Given the description of an element on the screen output the (x, y) to click on. 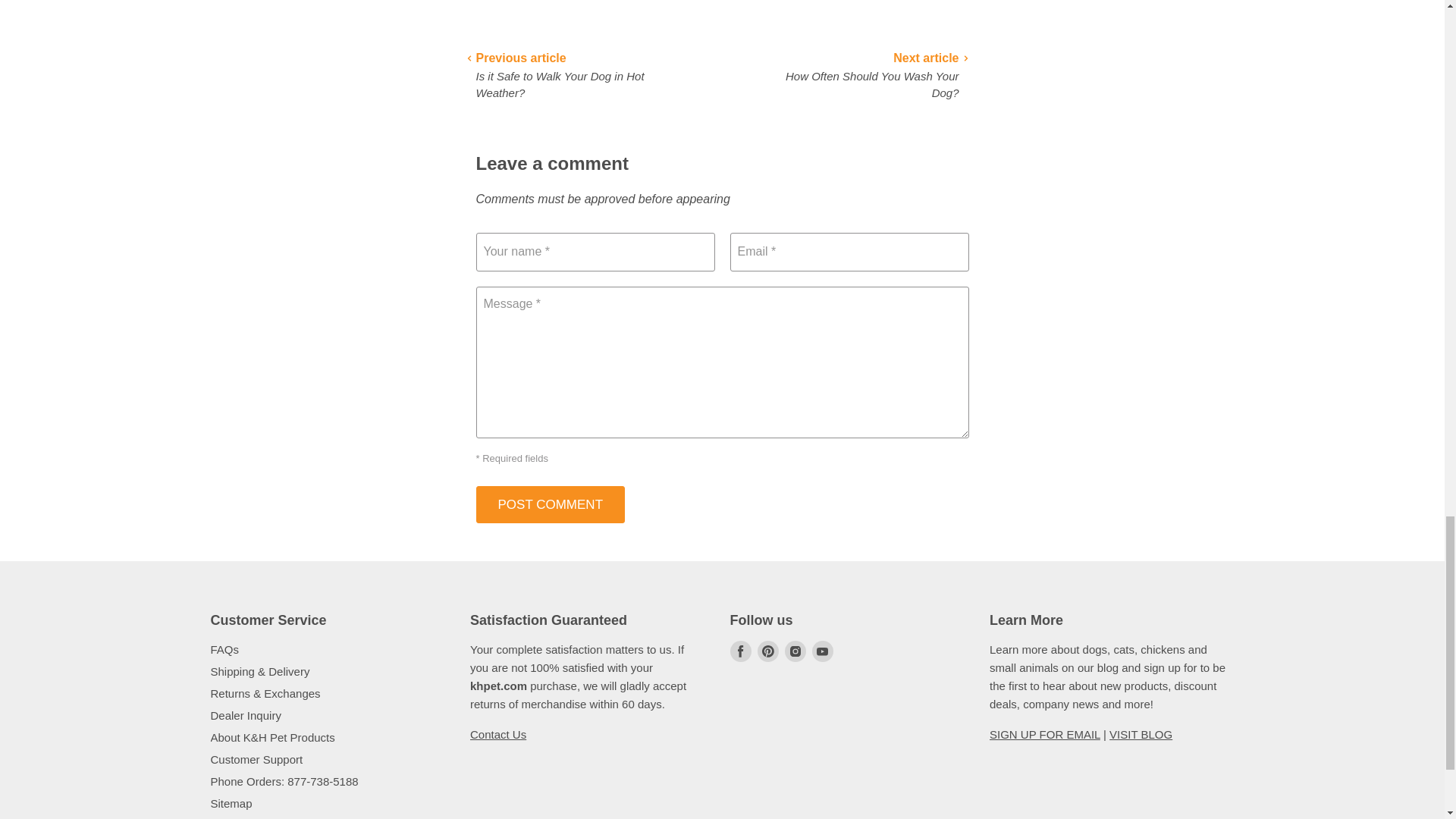
Blogs (1140, 734)
Facebook (740, 651)
Join our mailing list! (1045, 734)
Youtube (821, 651)
Pinterest (767, 651)
Instagram (794, 651)
Contact Us (497, 734)
